Given the description of an element on the screen output the (x, y) to click on. 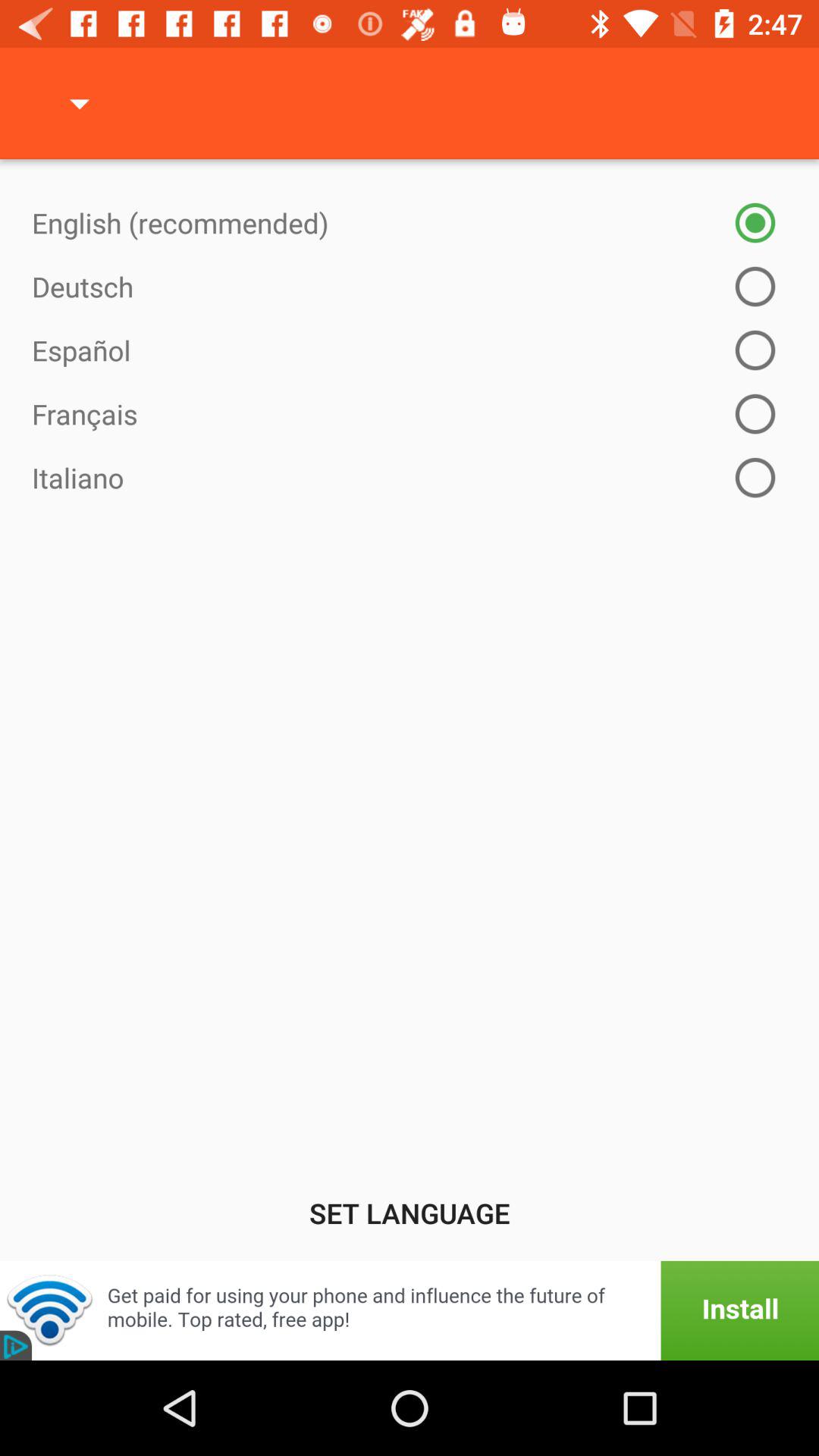
turn off the item at the top left corner (79, 103)
